Given the description of an element on the screen output the (x, y) to click on. 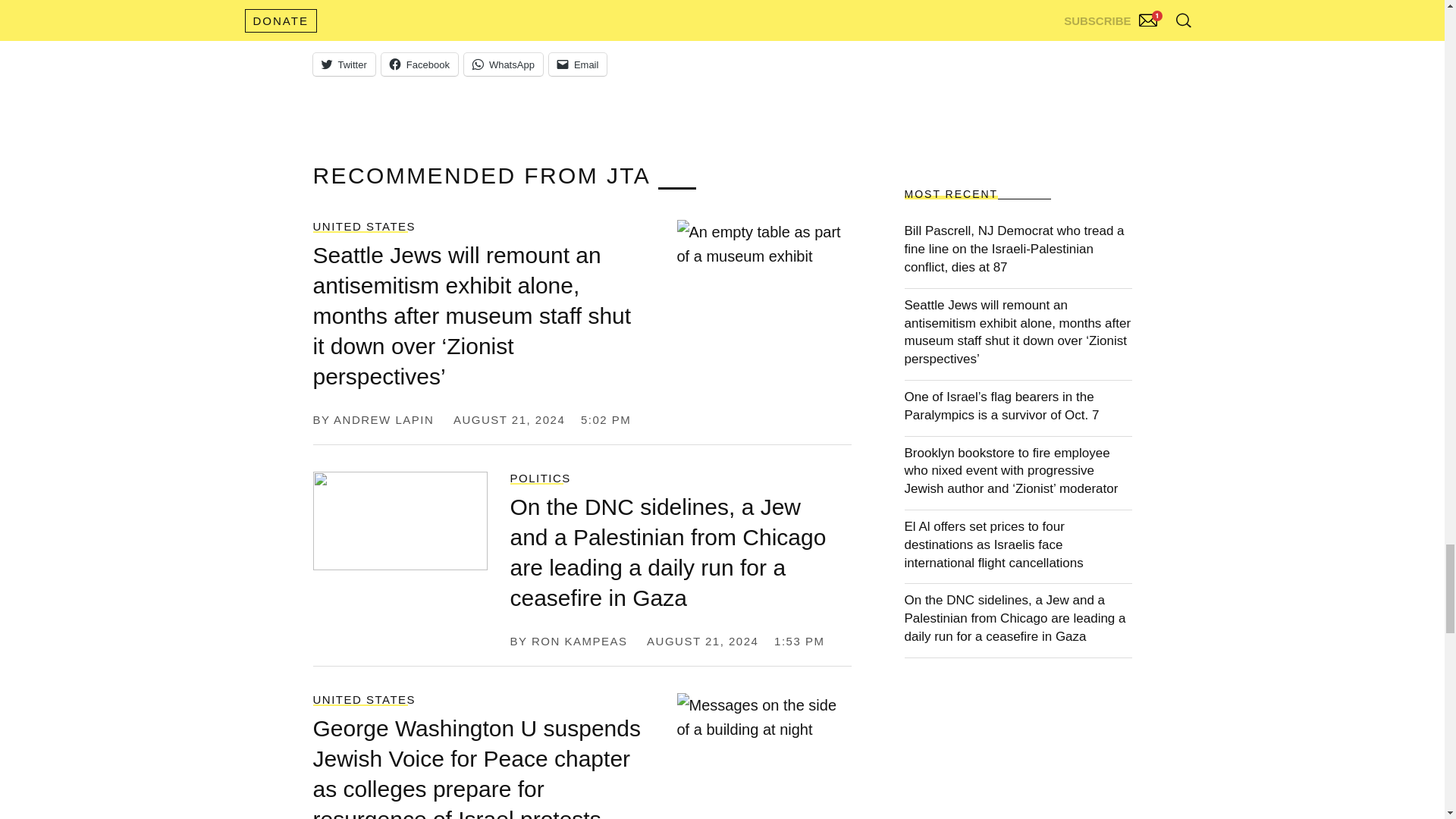
Click to share on Facebook (419, 64)
Click to share on WhatsApp (503, 64)
Click to email a link to a friend (577, 64)
Click to share on Twitter (343, 64)
